Given the description of an element on the screen output the (x, y) to click on. 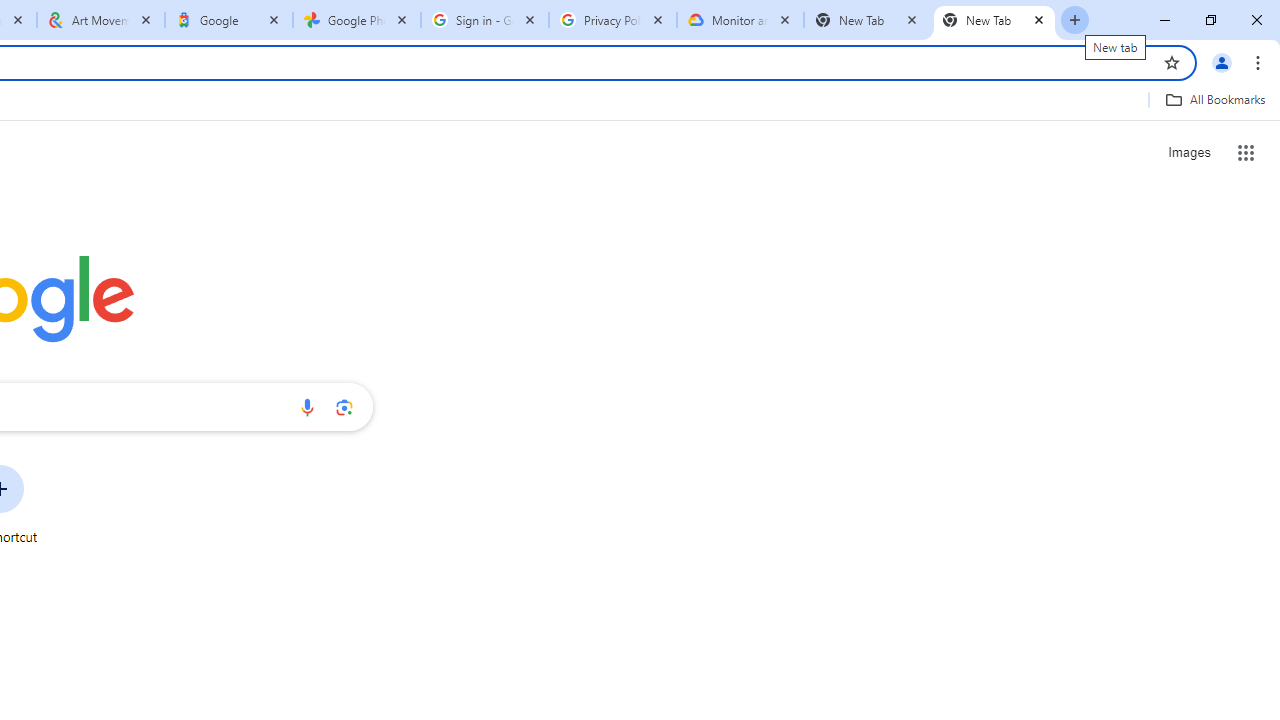
Sign in - Google Accounts (485, 20)
Google (229, 20)
New Tab (866, 20)
